Given the description of an element on the screen output the (x, y) to click on. 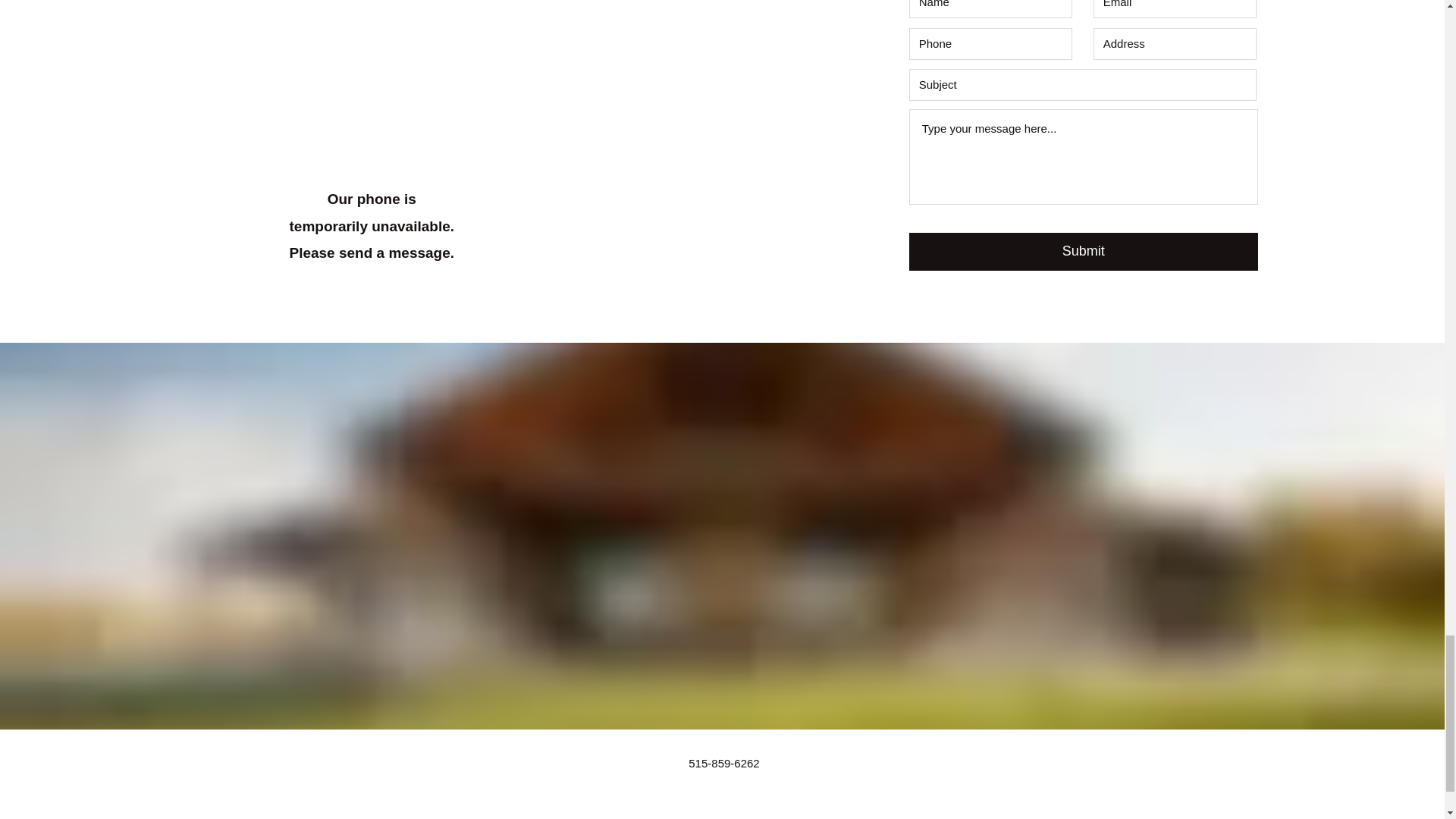
Submit (1082, 251)
